Given the description of an element on the screen output the (x, y) to click on. 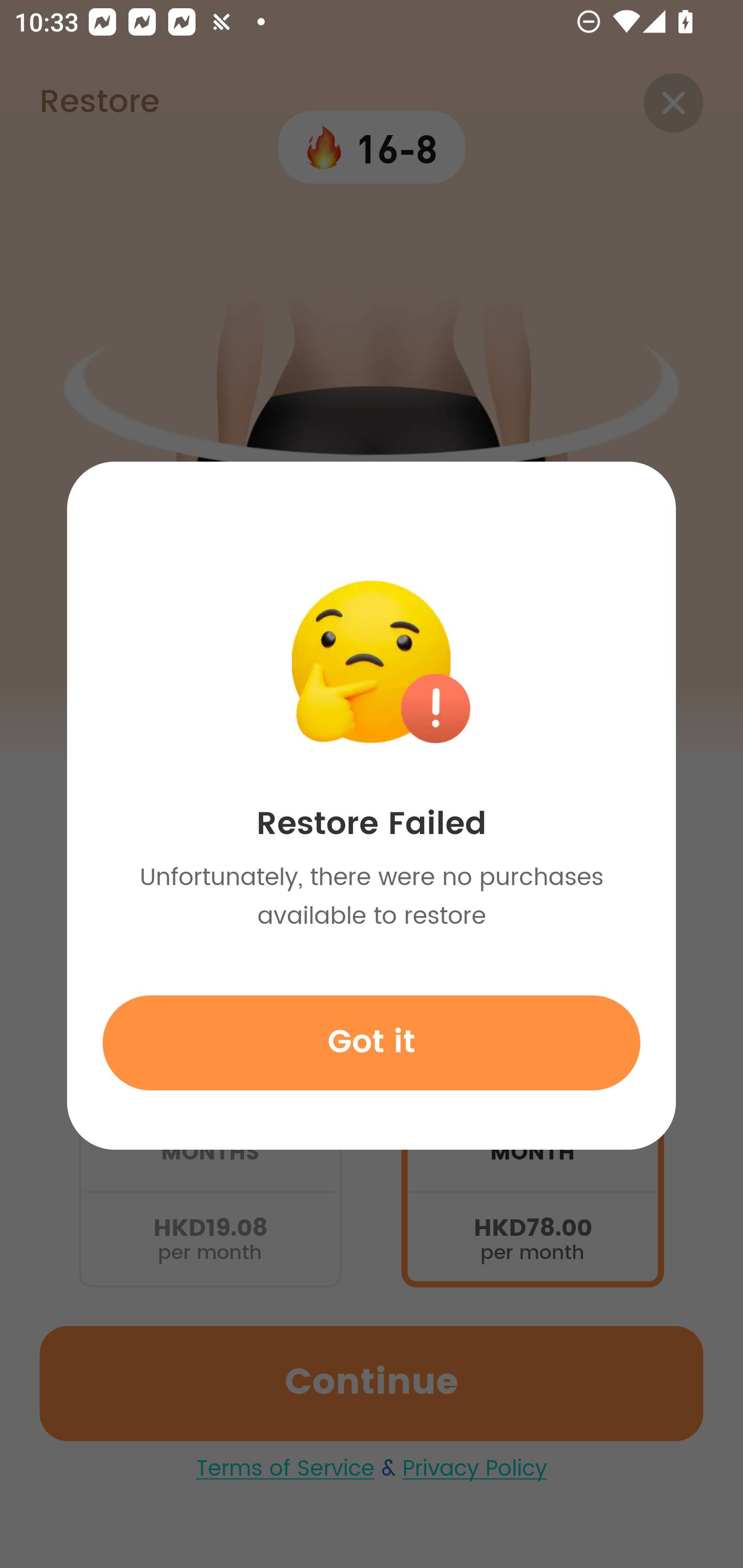
Got it (371, 1042)
